Given the description of an element on the screen output the (x, y) to click on. 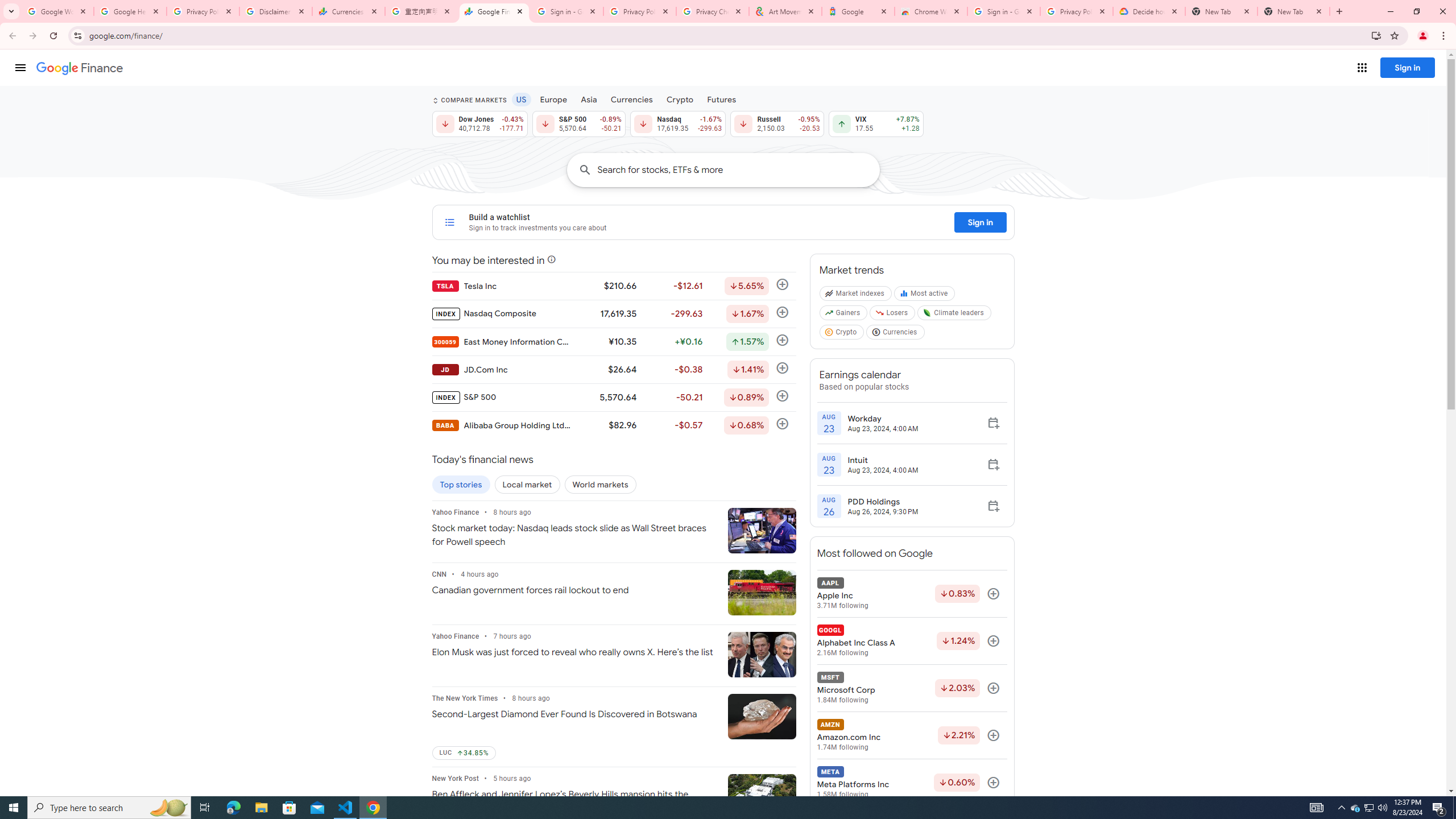
World markets (600, 484)
Intuit (882, 460)
Nasdaq 17,619.35 Down by 1.67% -299.63 (678, 123)
Privacy Checkup (712, 11)
Sign in (1407, 67)
Most active (925, 295)
Sign in - Google Accounts (1003, 11)
Crypto (842, 334)
